Given the description of an element on the screen output the (x, y) to click on. 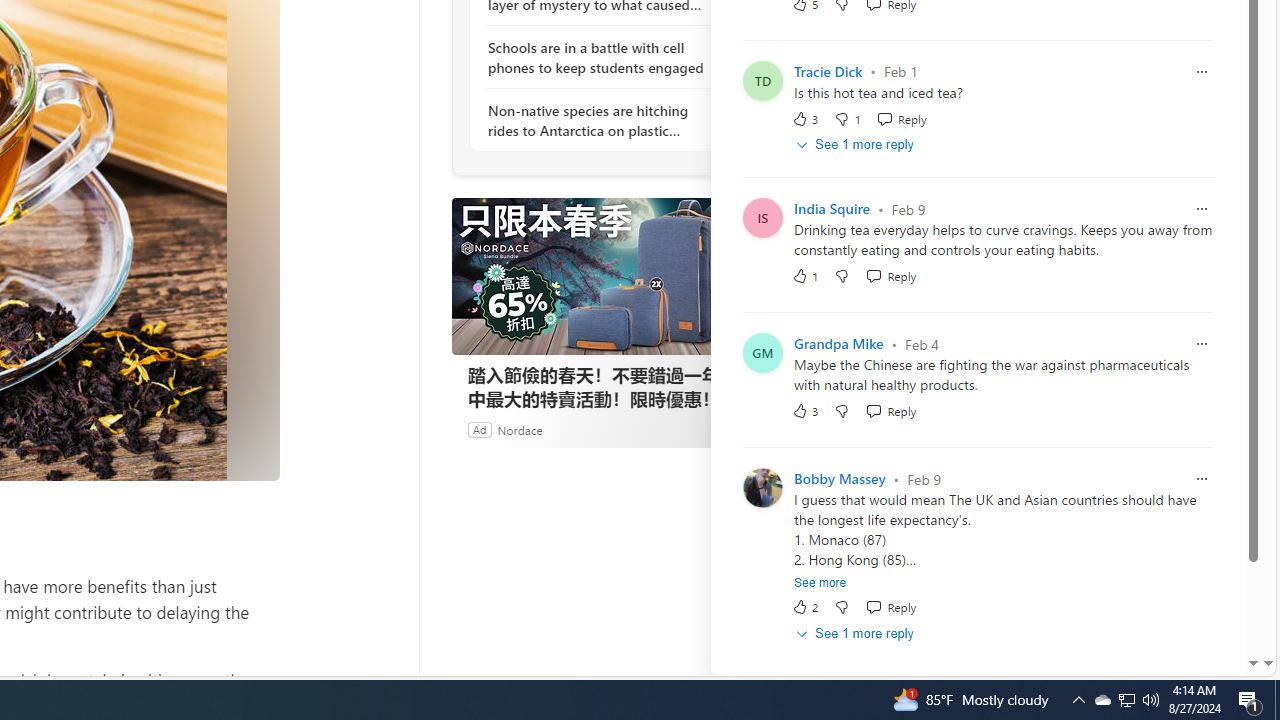
2 Like (804, 606)
1 Like (804, 276)
Reply Reply Comment (891, 606)
Tracie Dick (827, 71)
Ad (479, 429)
Profile Picture (762, 488)
Ad Choice (729, 429)
